Given the description of an element on the screen output the (x, y) to click on. 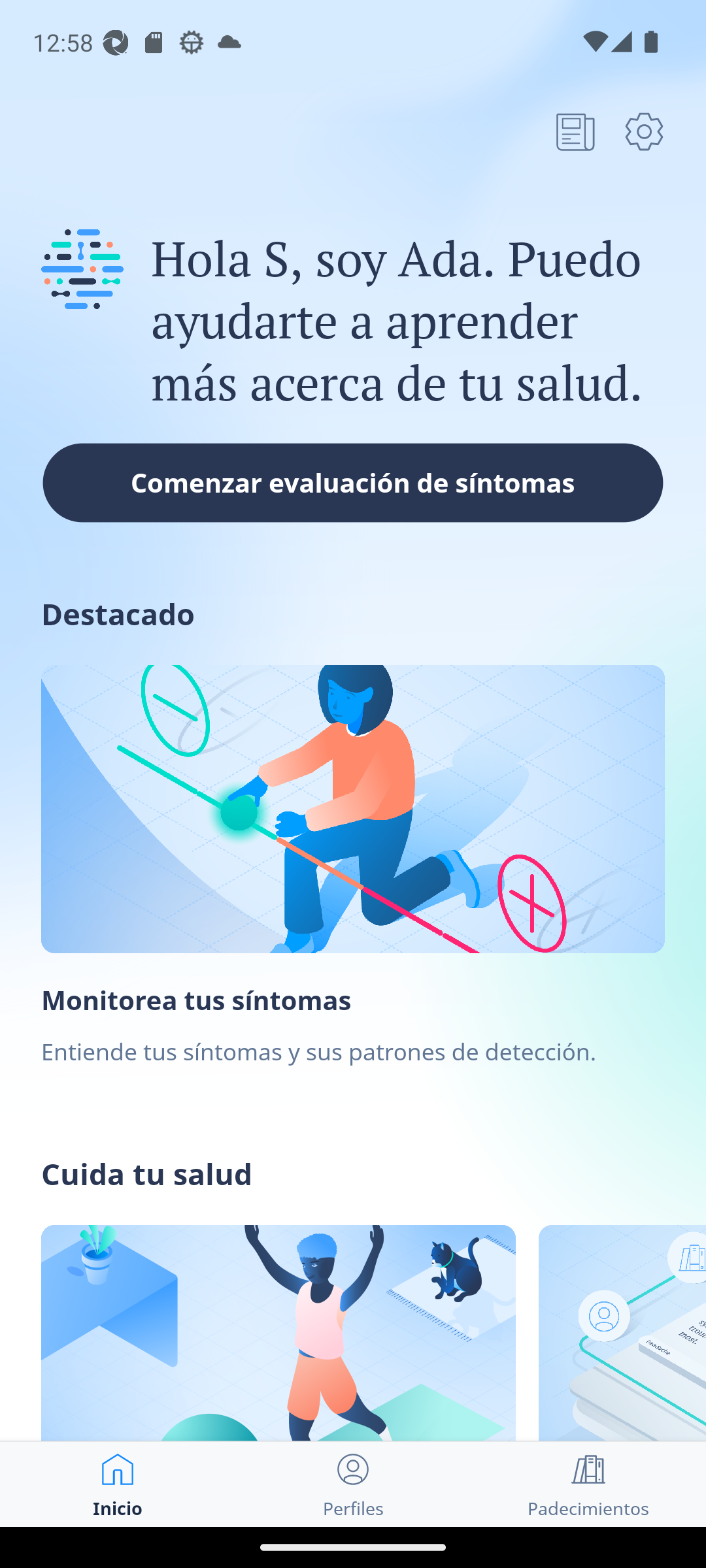
article icon , open articles (574, 131)
settings icon, open settings (644, 131)
Comenzar evaluación de síntomas (352, 482)
Inicio (117, 1484)
Padecimientos (588, 1484)
